Given the description of an element on the screen output the (x, y) to click on. 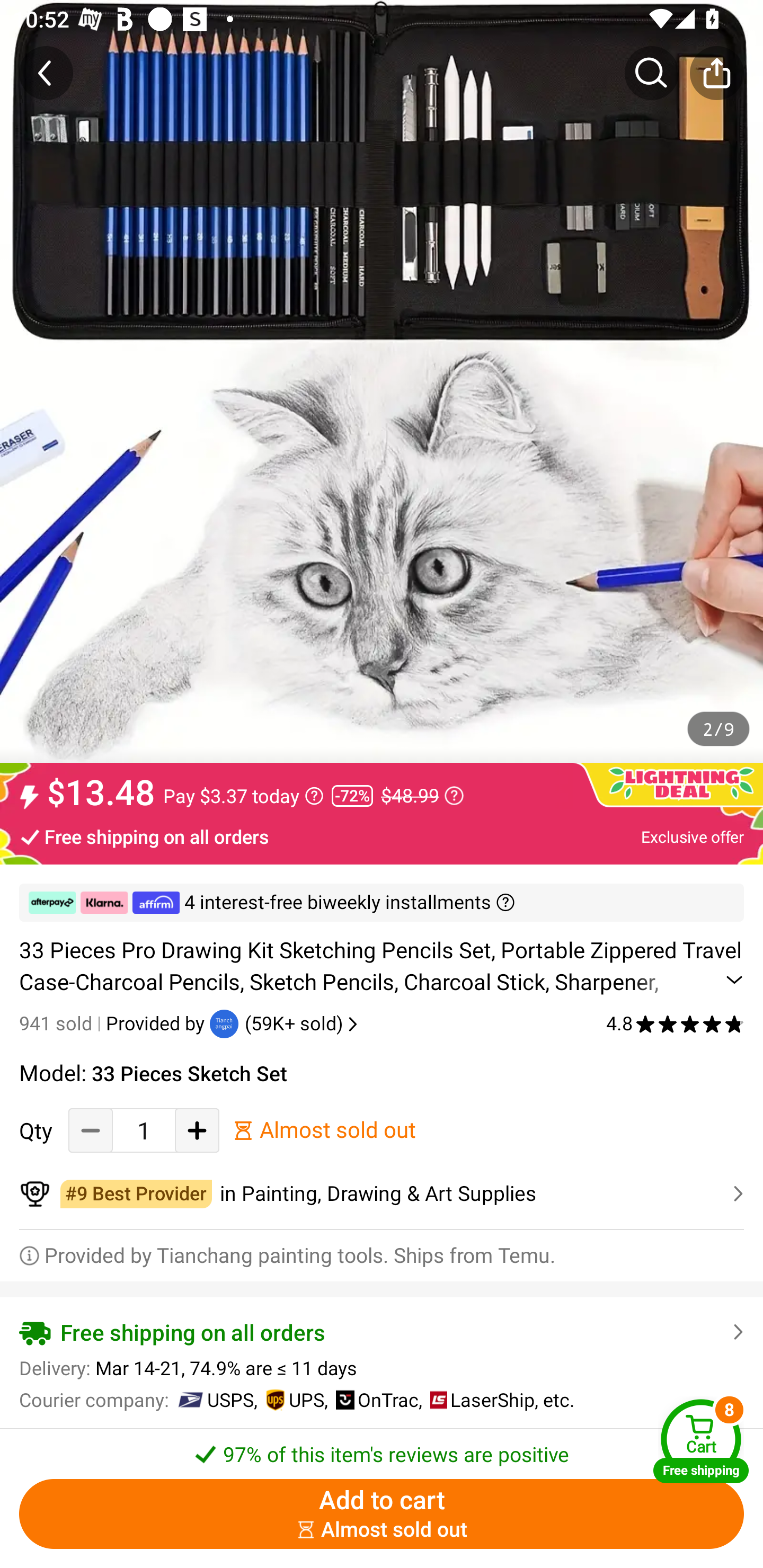
Back (46, 72)
Share (716, 72)
Pay $3.37 today   (243, 795)
Free shipping on all orders Exclusive offer (381, 836)
￼ ￼ ￼ 4 interest-free biweekly installments ￼ (381, 902)
4.8 (674, 1023)
Decrease Quantity Button (90, 1130)
1 (143, 1130)
Add Quantity button (196, 1130)
￼￼in Painting, Drawing & Art Supplies (381, 1193)
Cart Free shipping Cart (701, 1440)
￼￼97% of this item's reviews are positive (381, 1448)
Add to cart ￼￼Almost sold out (381, 1513)
